Given the description of an element on the screen output the (x, y) to click on. 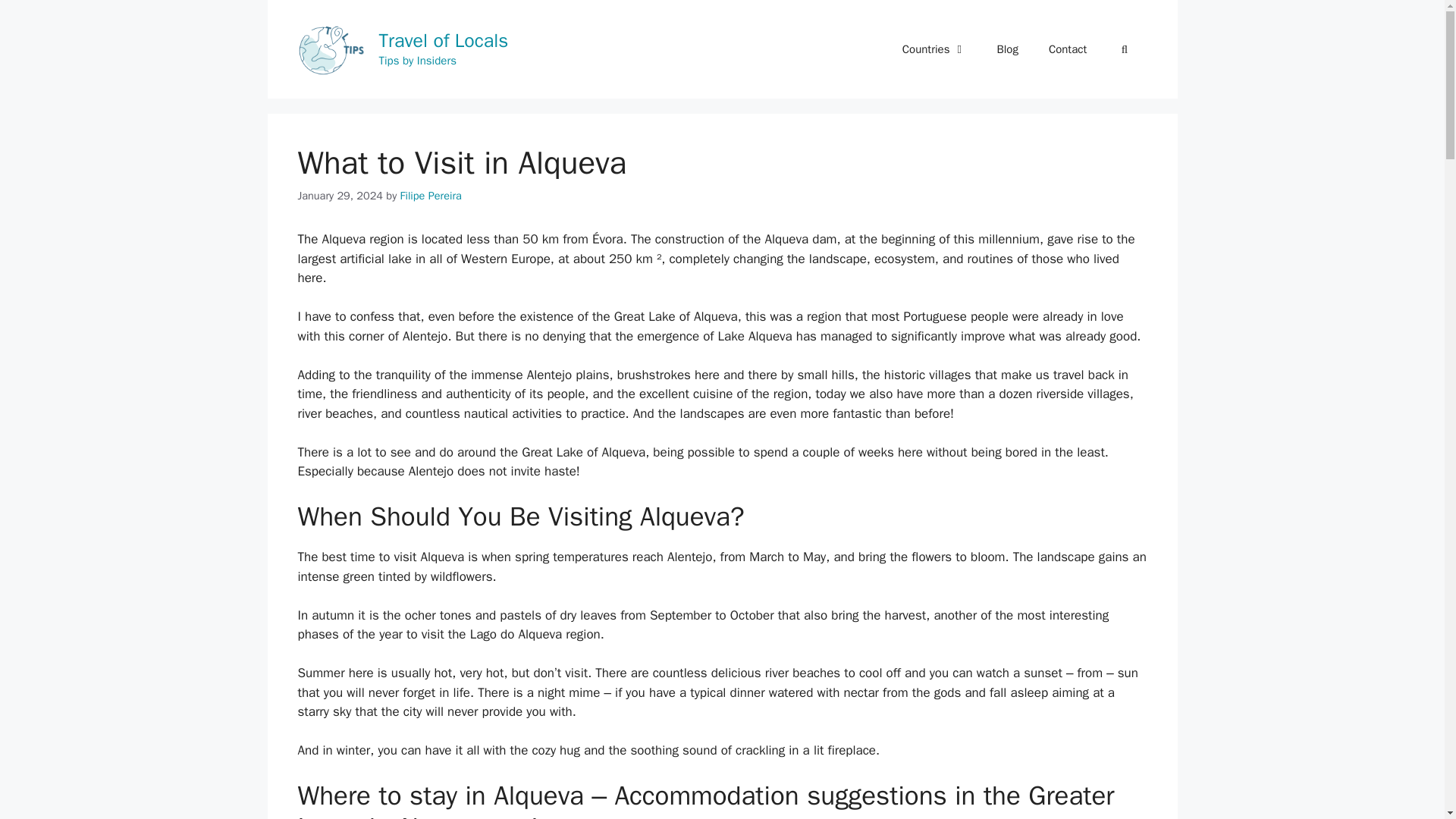
Filipe Pereira (430, 195)
Contact (1067, 49)
Countries (933, 49)
View all posts by Filipe Pereira (430, 195)
Travel of Locals (443, 40)
Blog (1006, 49)
